Given the description of an element on the screen output the (x, y) to click on. 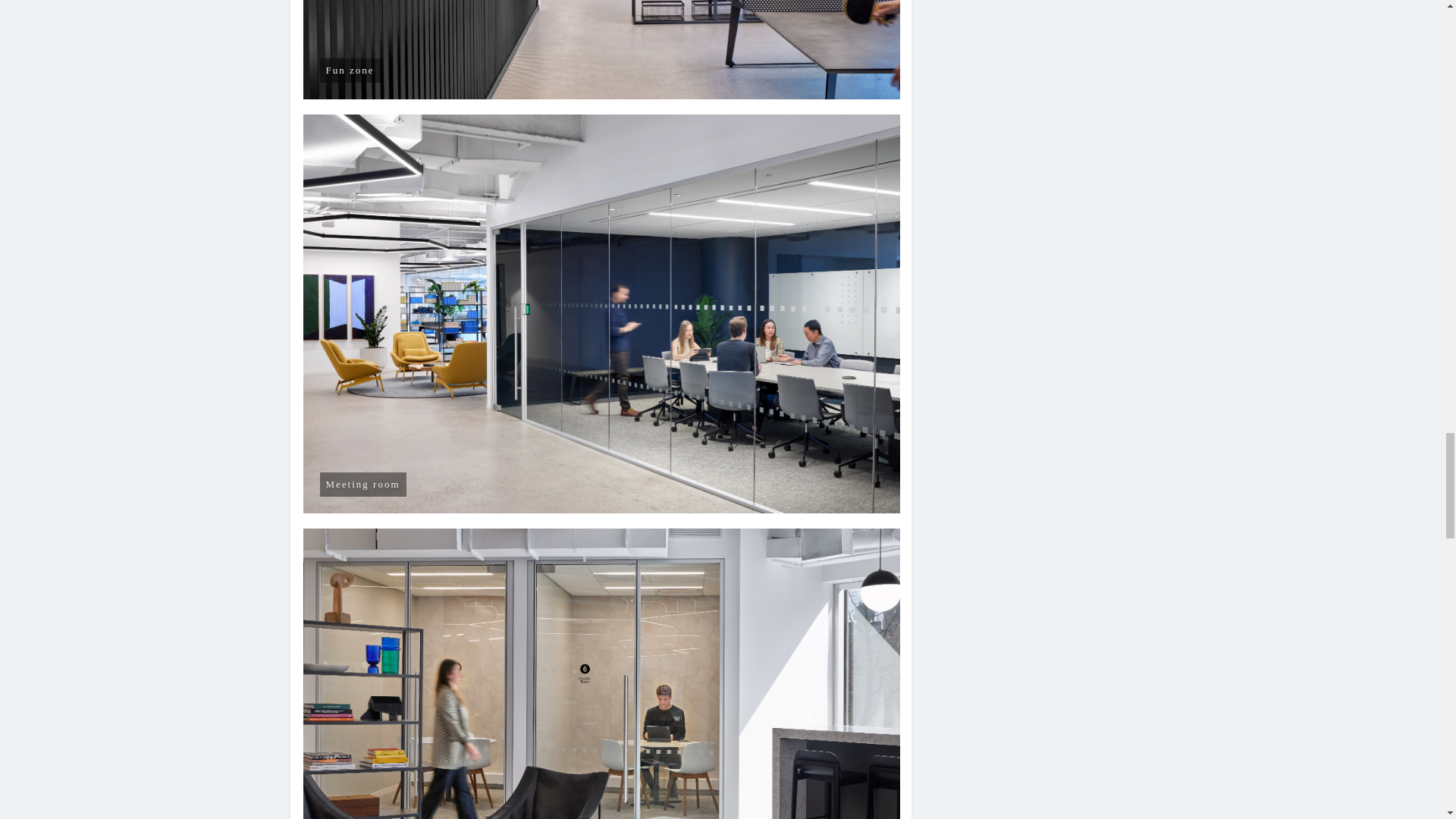
Fun zone (601, 49)
